Given the description of an element on the screen output the (x, y) to click on. 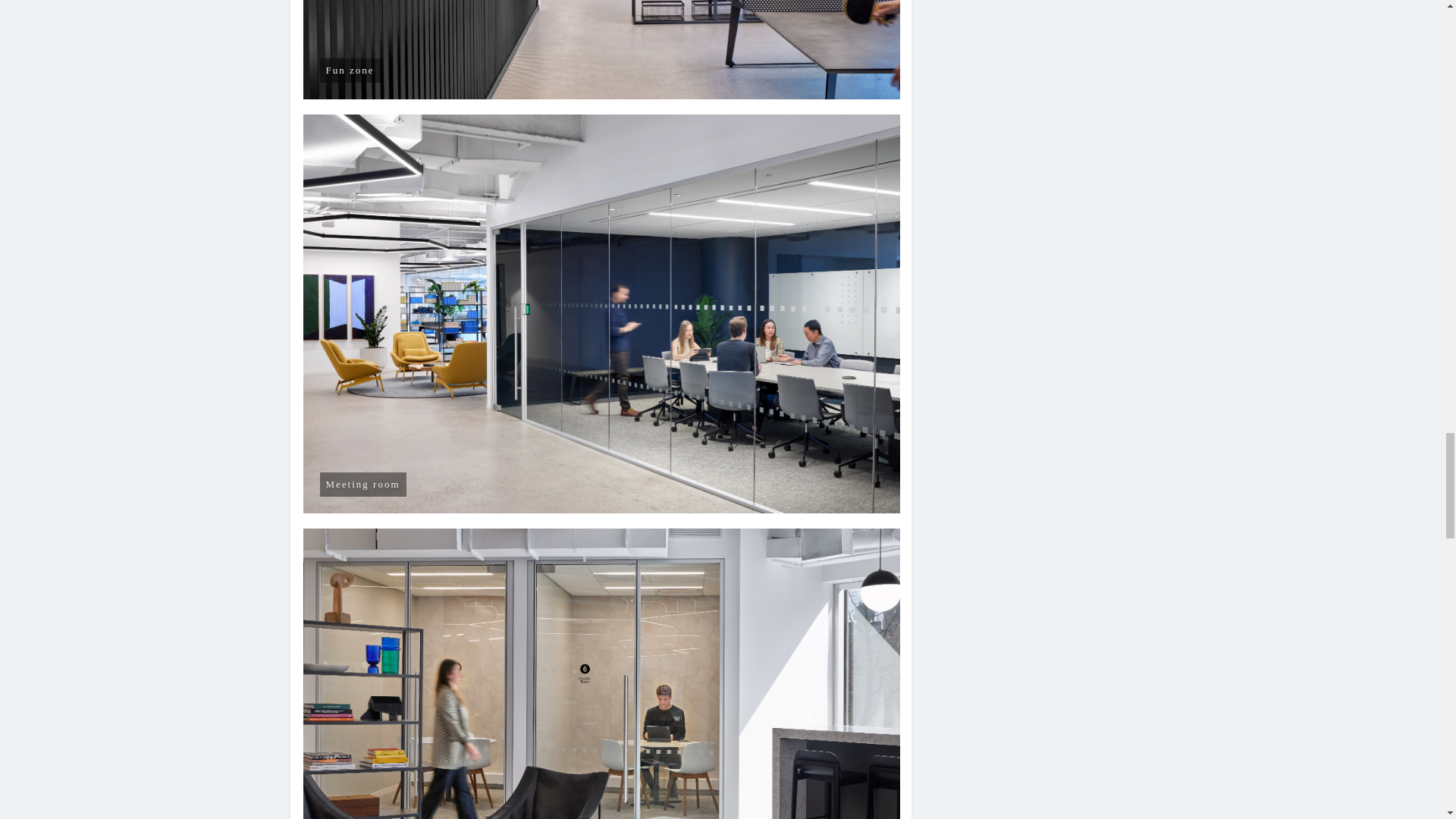
Fun zone (601, 49)
